Given the description of an element on the screen output the (x, y) to click on. 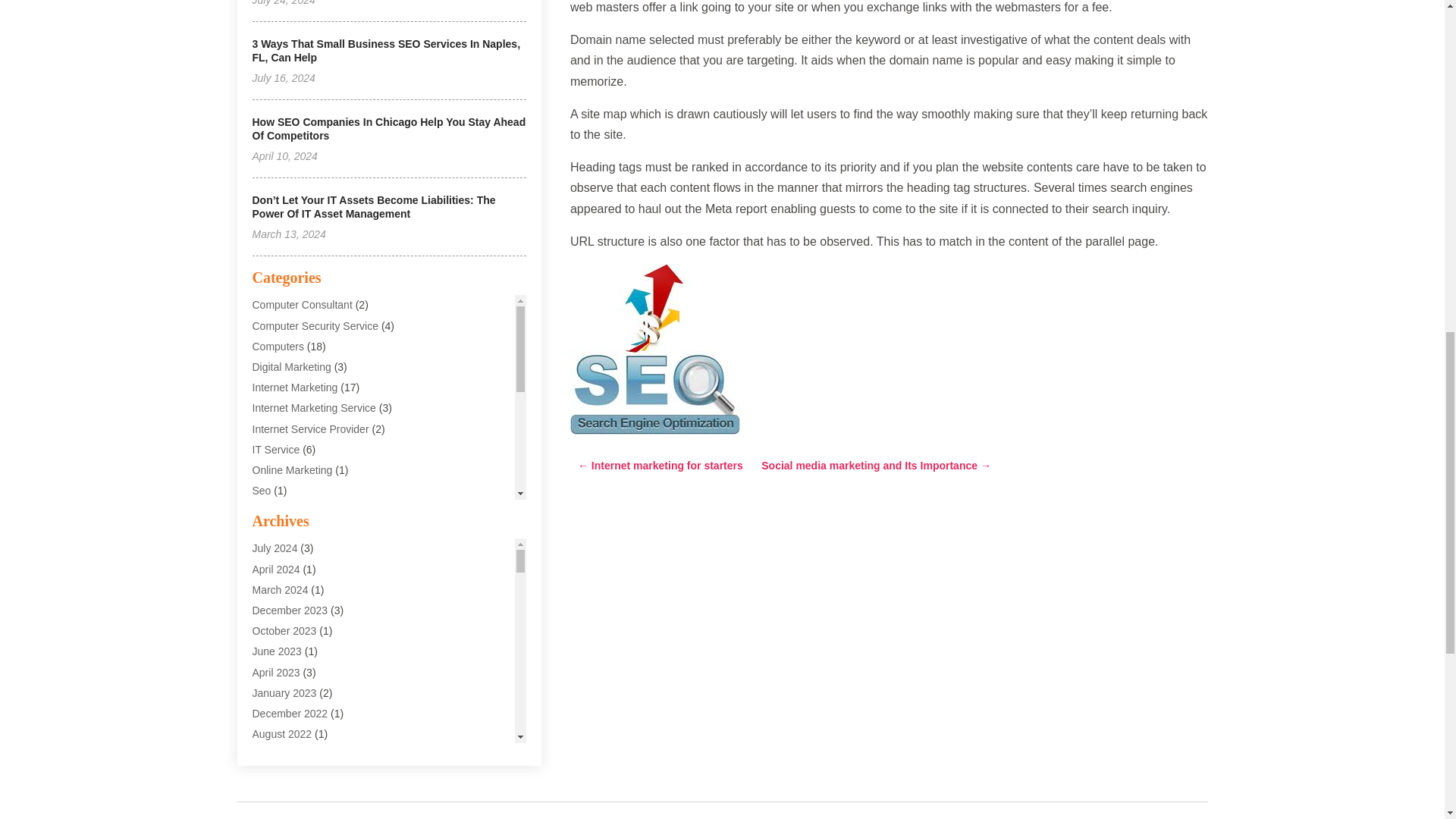
Internet Marketing (294, 387)
IT Service (275, 449)
Web Development (295, 613)
Online Marketing (291, 469)
Web Design (279, 573)
Software Company (296, 510)
Computer Consultant (301, 304)
Digital Marketing (290, 367)
